Given the description of an element on the screen output the (x, y) to click on. 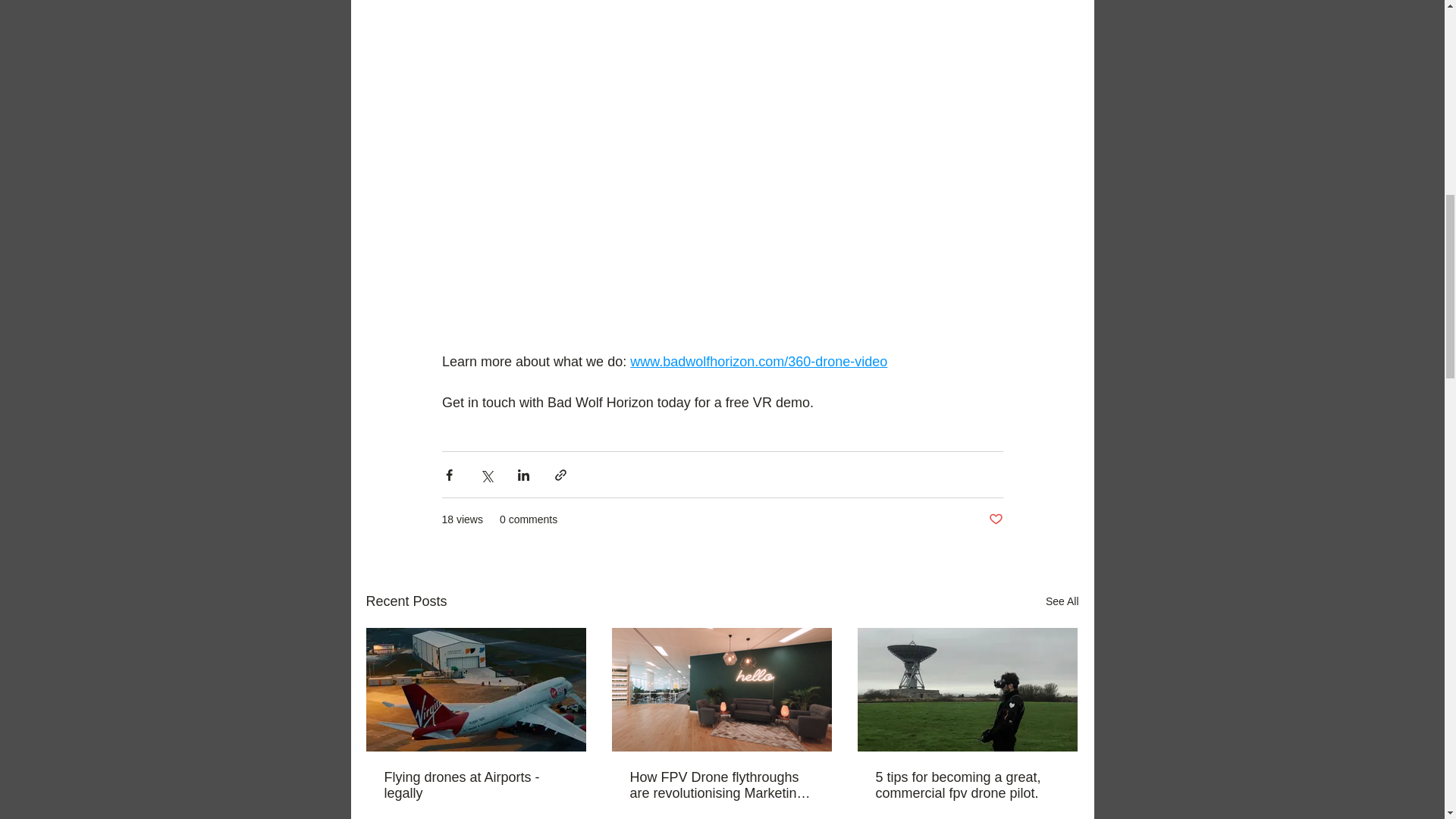
See All (1061, 601)
Post not marked as liked (995, 519)
5 tips for becoming a great, commercial fpv drone pilot. (966, 785)
Flying drones at Airports - legally (475, 785)
